Given the description of an element on the screen output the (x, y) to click on. 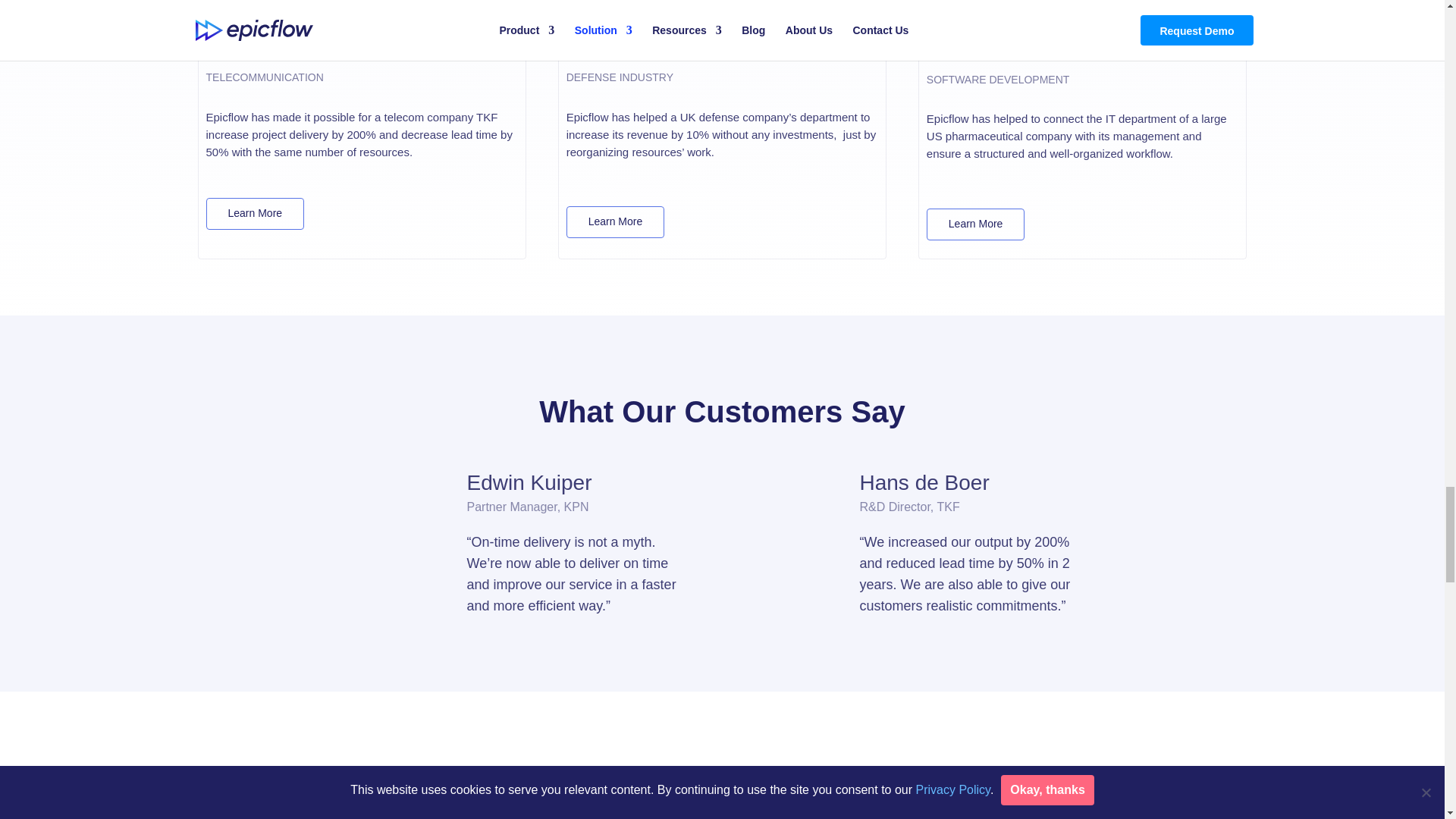
tkf (502, 213)
case 04 (362, 27)
